Given the description of an element on the screen output the (x, y) to click on. 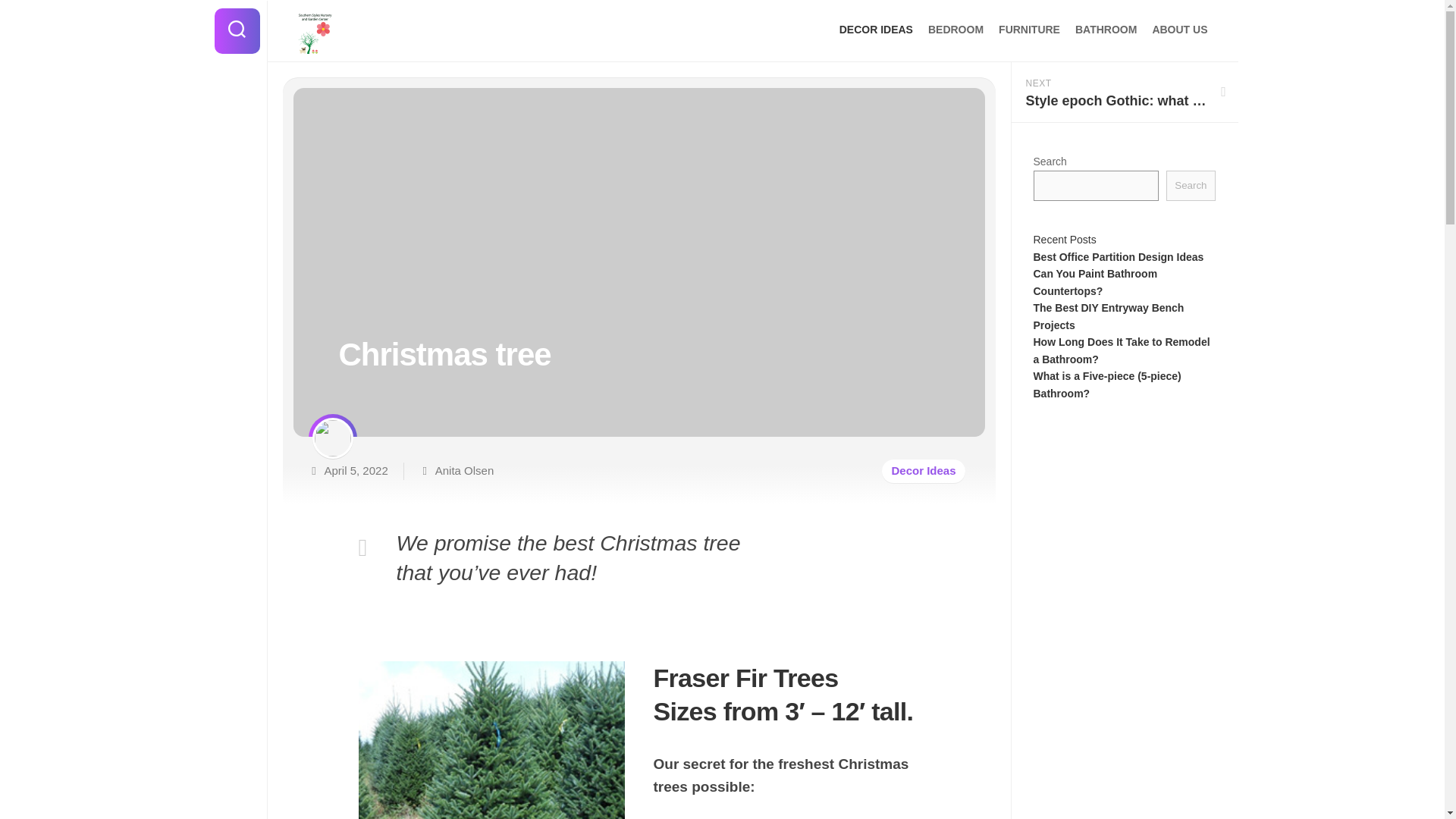
How Long Does It Take to Remodel a Bathroom? (1120, 350)
The Best DIY Entryway Bench Projects (1107, 316)
Best Office Partition Design Ideas (1123, 92)
FURNITURE (1118, 256)
BEDROOM (1028, 29)
Search (956, 29)
BATHROOM (1190, 184)
Can You Paint Bathroom Countertops? (1106, 29)
Posts by Anita Olsen (1094, 282)
Anita Olsen (465, 470)
Decor Ideas (465, 470)
ABOUT US (751, 31)
DECOR IDEAS (922, 471)
